Given the description of an element on the screen output the (x, y) to click on. 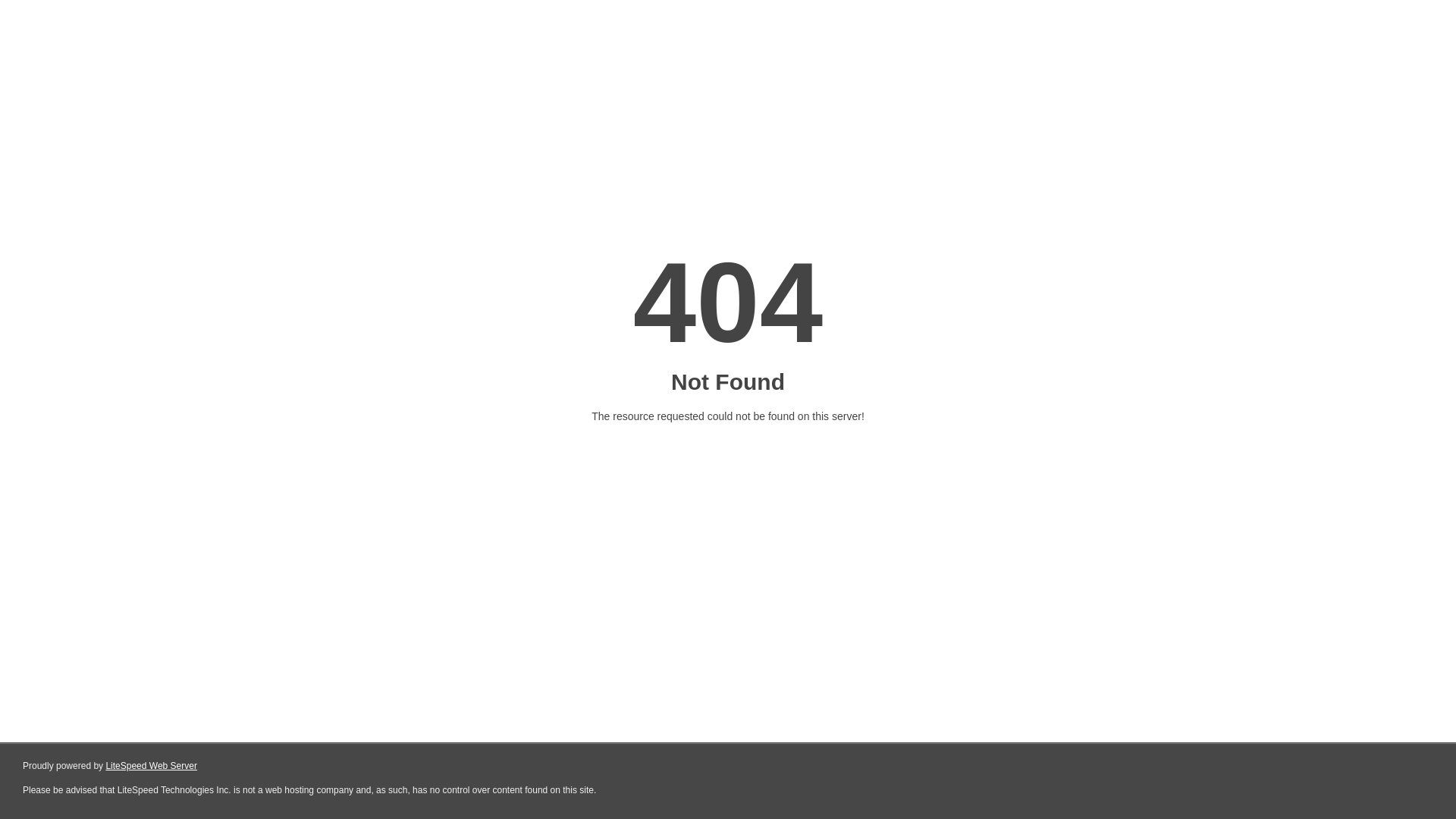
LiteSpeed Web Server Element type: text (151, 765)
